Given the description of an element on the screen output the (x, y) to click on. 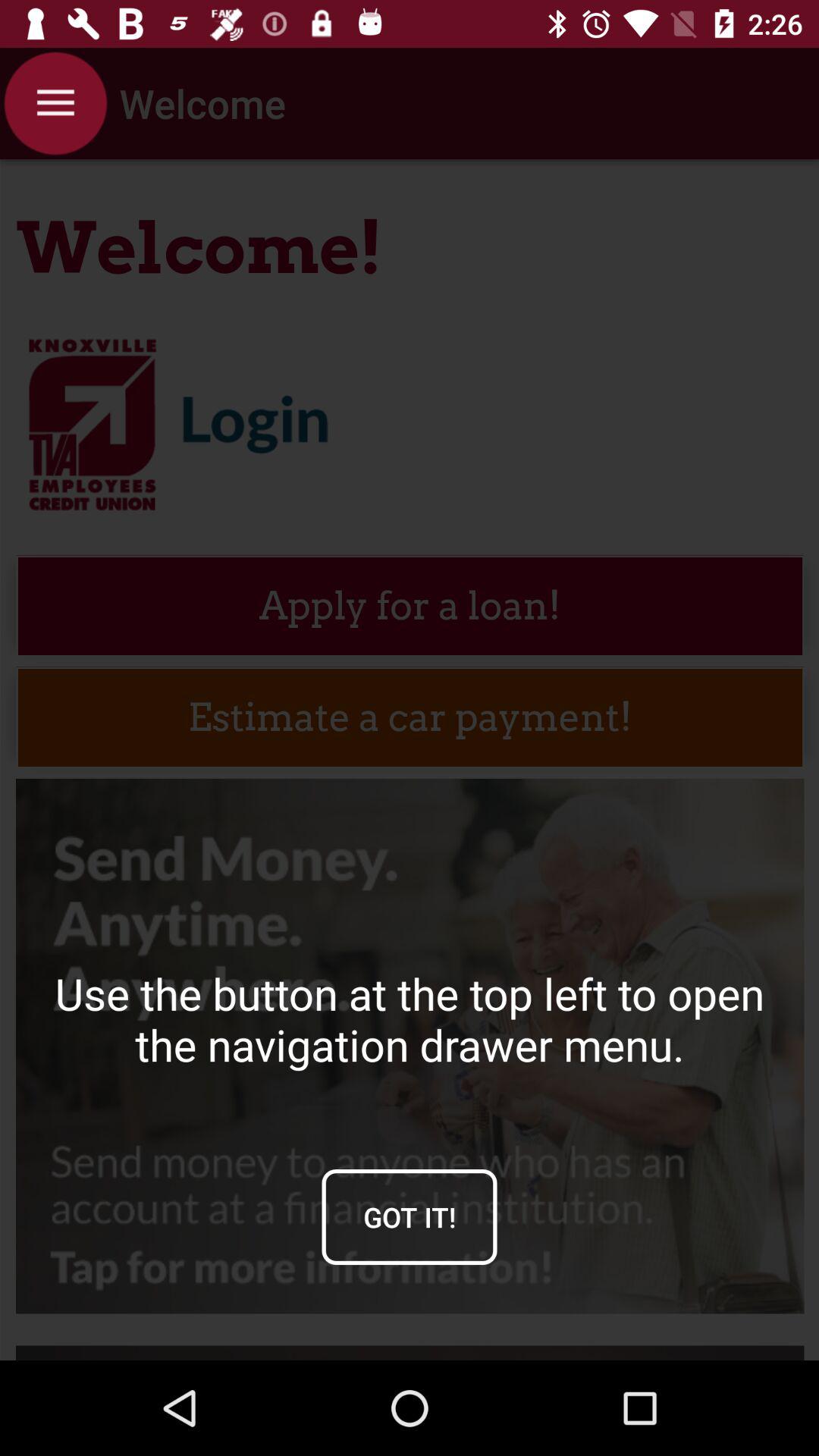
turn on got it! item (409, 1216)
